Given the description of an element on the screen output the (x, y) to click on. 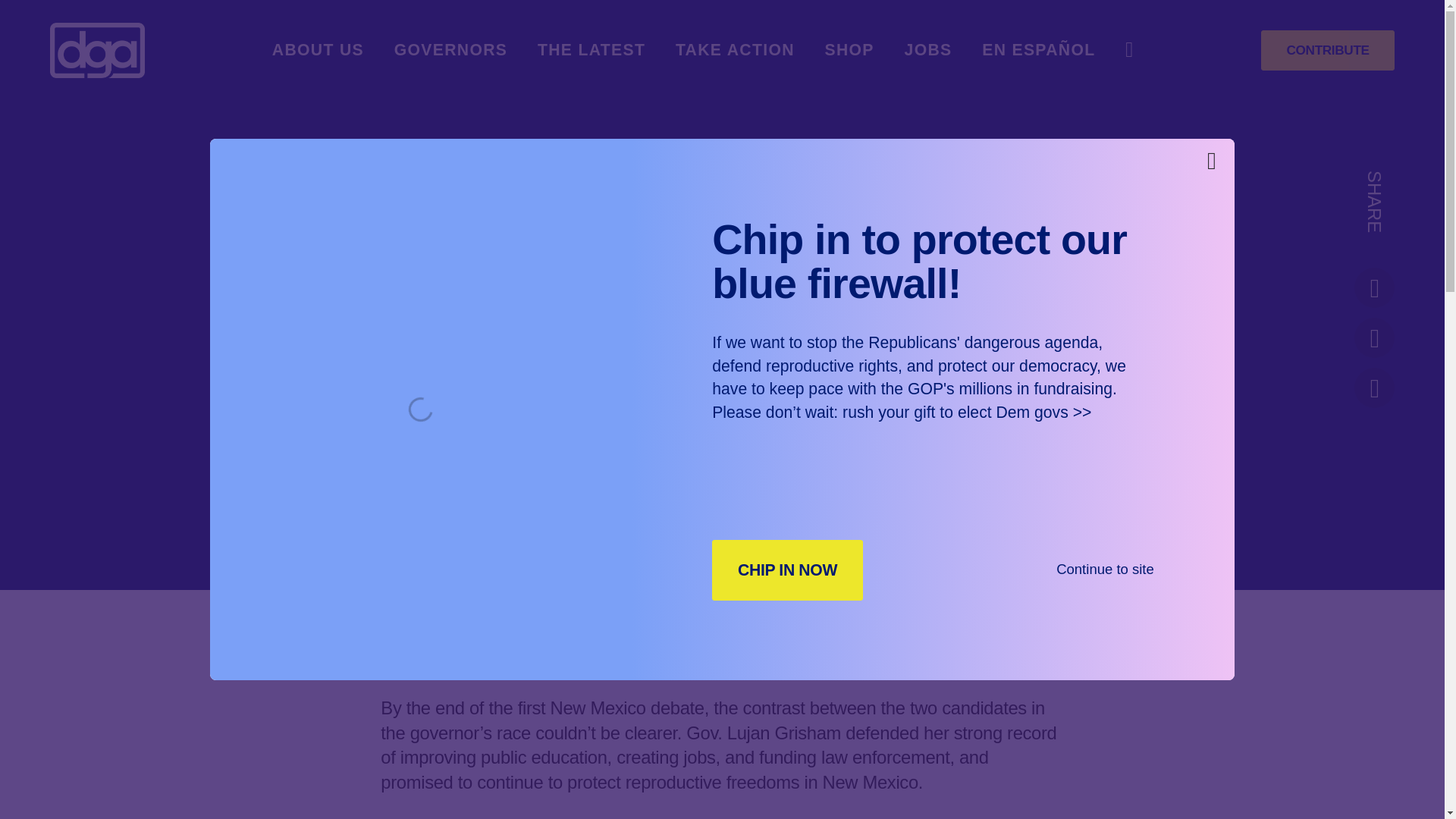
CHIP IN NOW (787, 569)
JOBS (928, 49)
TAKE ACTION (734, 49)
SHOP (850, 49)
ABOUT US (318, 49)
CONTRIBUTE (1326, 50)
GOVERNORS (451, 49)
LATEST NEWS (658, 510)
Continue to site (1105, 569)
THE LATEST (591, 49)
